Given the description of an element on the screen output the (x, y) to click on. 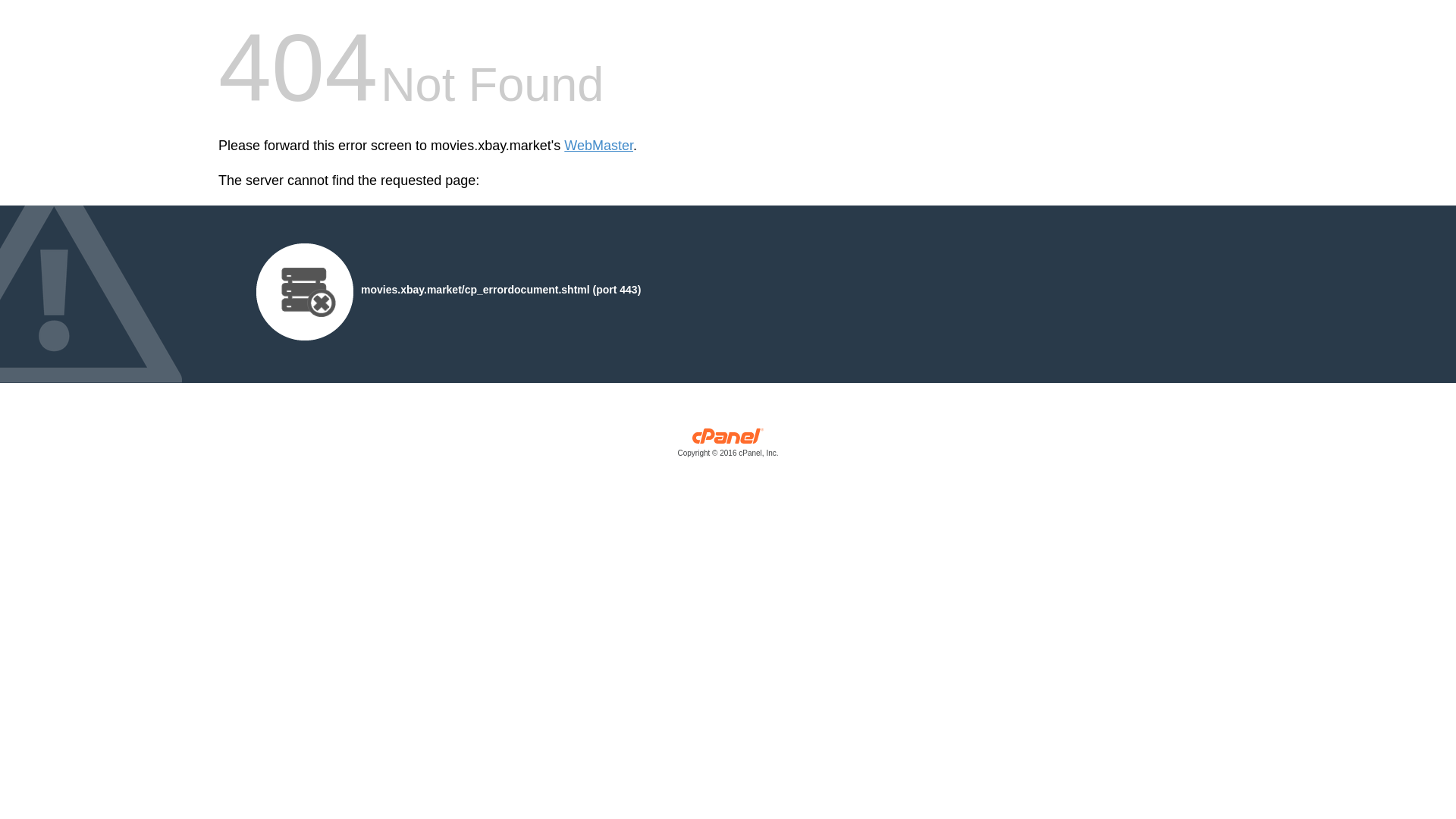
cPanel, Inc. (727, 446)
WebMaster (598, 145)
